Given the description of an element on the screen output the (x, y) to click on. 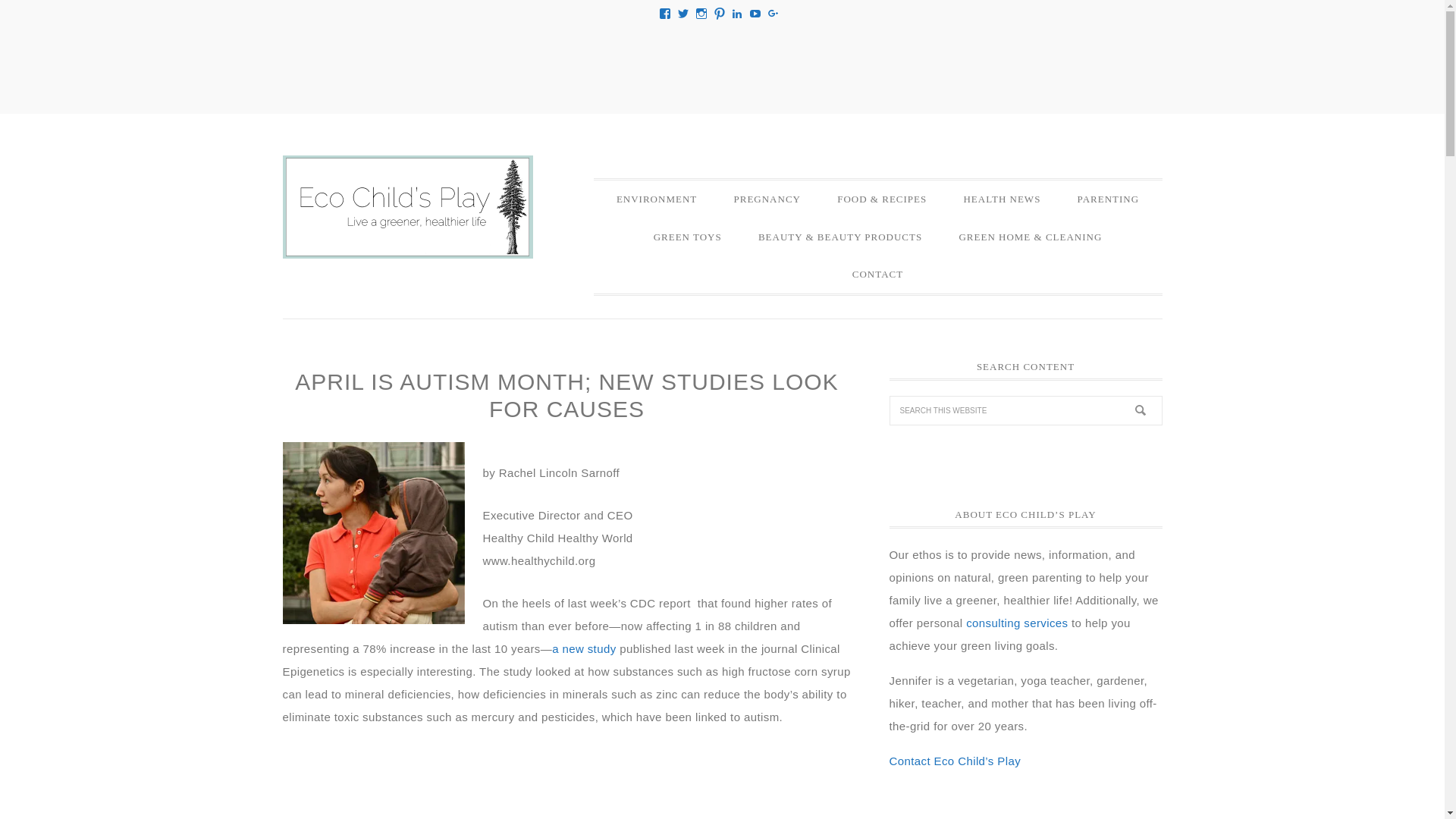
ECO CHILD'S PLAY (407, 206)
Advertisement (566, 783)
PREGNANCY (766, 199)
Advertisement (721, 64)
HEALTH NEWS (1001, 199)
ENVIRONMENT (656, 199)
GREEN TOYS (687, 237)
PARENTING (1108, 199)
a new study (583, 647)
CONTACT (877, 274)
